Given the description of an element on the screen output the (x, y) to click on. 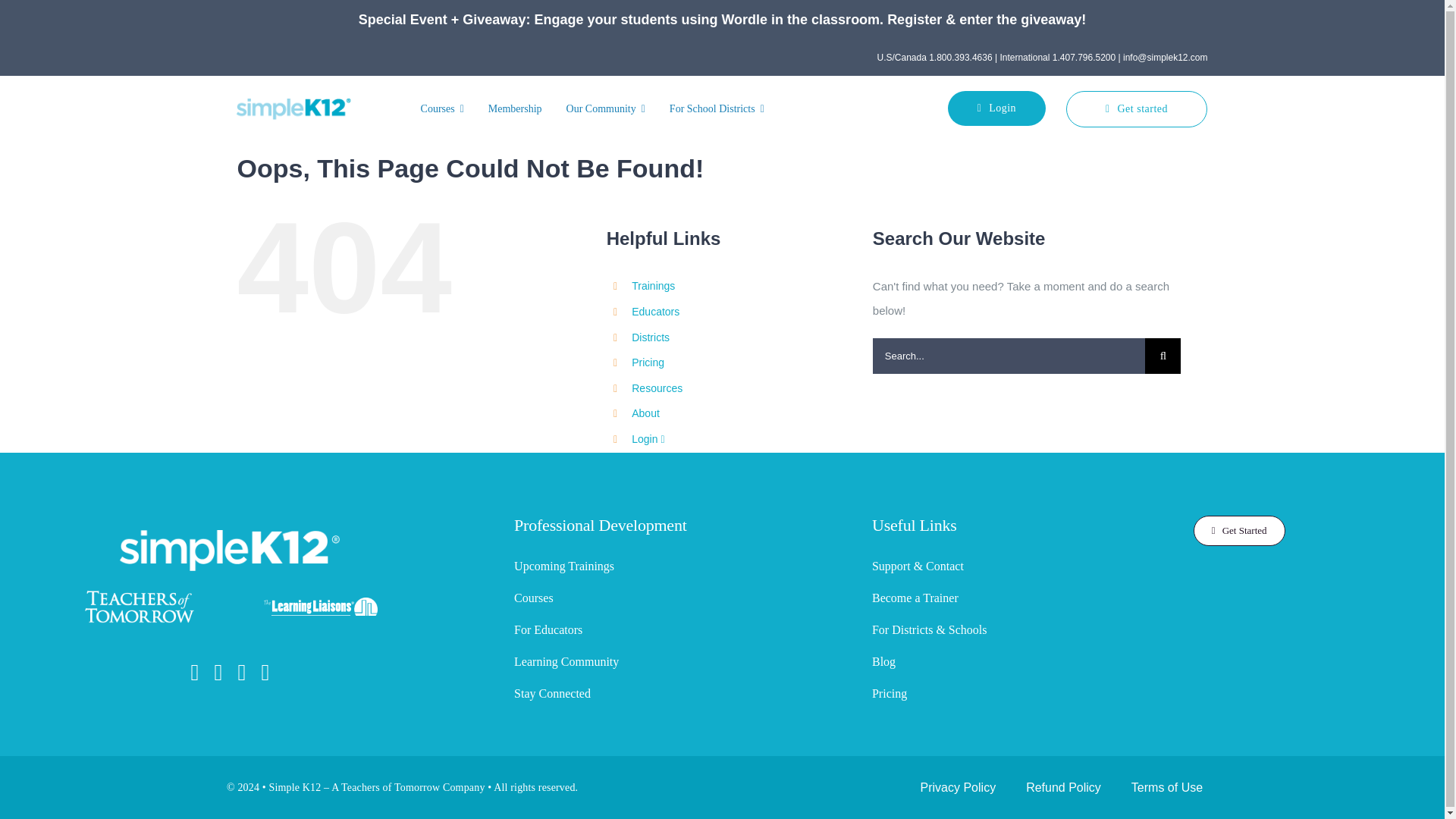
Membership (515, 108)
For School Districts (716, 108)
Login (996, 108)
Our Community (605, 108)
Get started (1136, 108)
Courses (442, 108)
Sign In to the Community (647, 439)
